Given the description of an element on the screen output the (x, y) to click on. 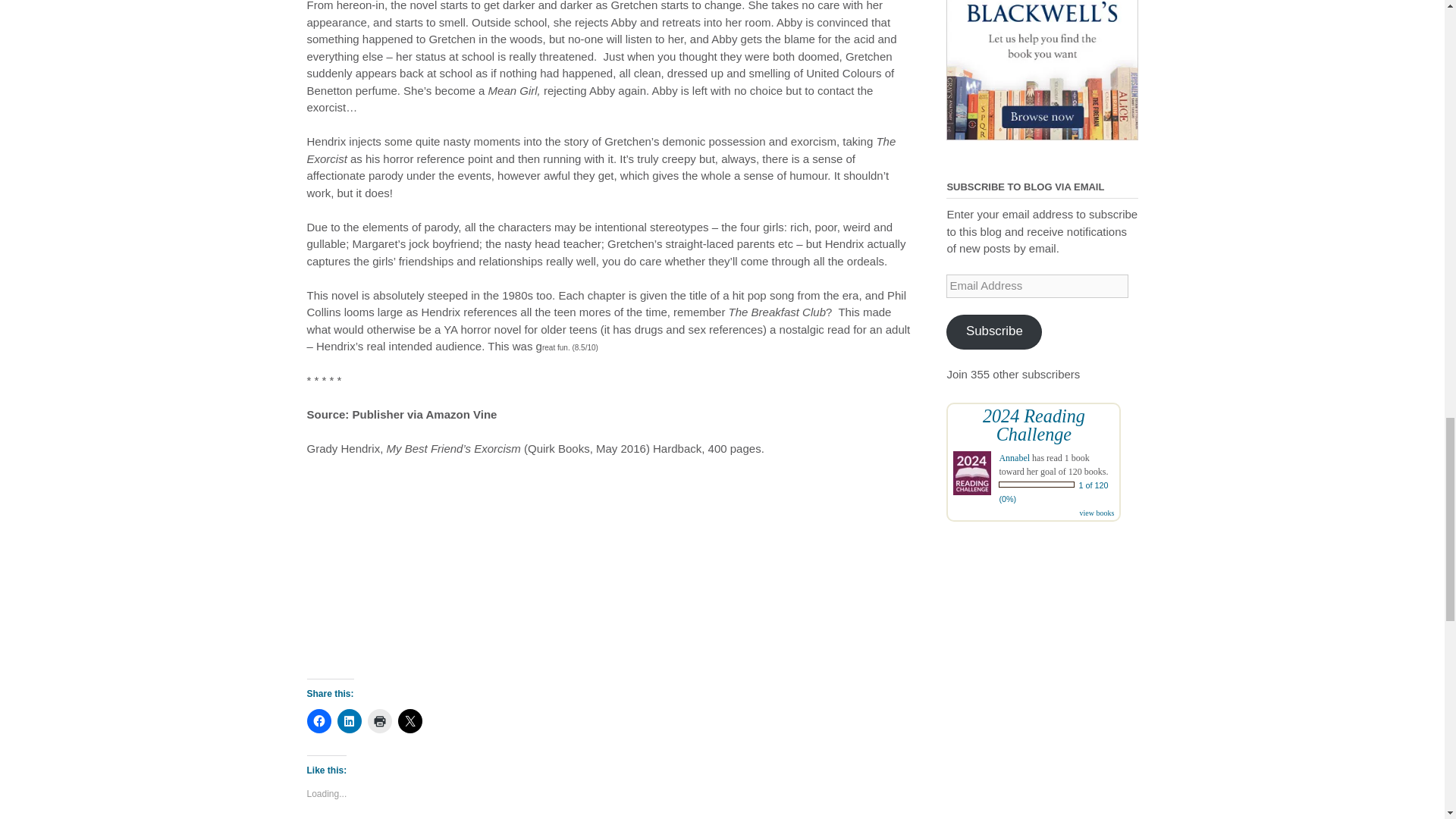
Click to share on X (409, 721)
Click to print (378, 721)
Click to share on Facebook (317, 721)
www.blackwells.co.uk (1041, 70)
Click to share on LinkedIn (348, 721)
